Given the description of an element on the screen output the (x, y) to click on. 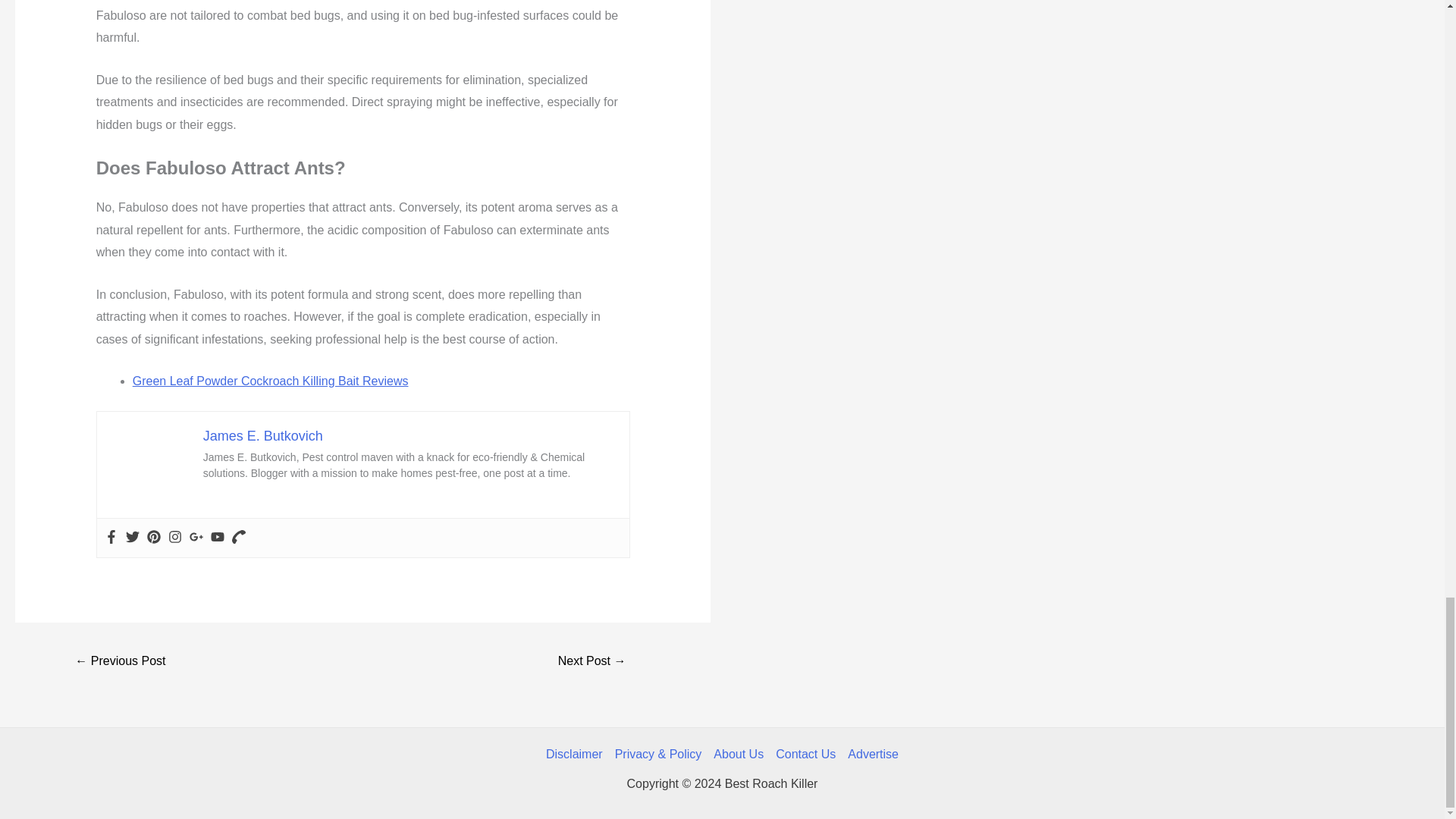
Do Roaches Bleed? (591, 662)
How To Lure A Cockroach Out Of Hiding (119, 662)
